Given the description of an element on the screen output the (x, y) to click on. 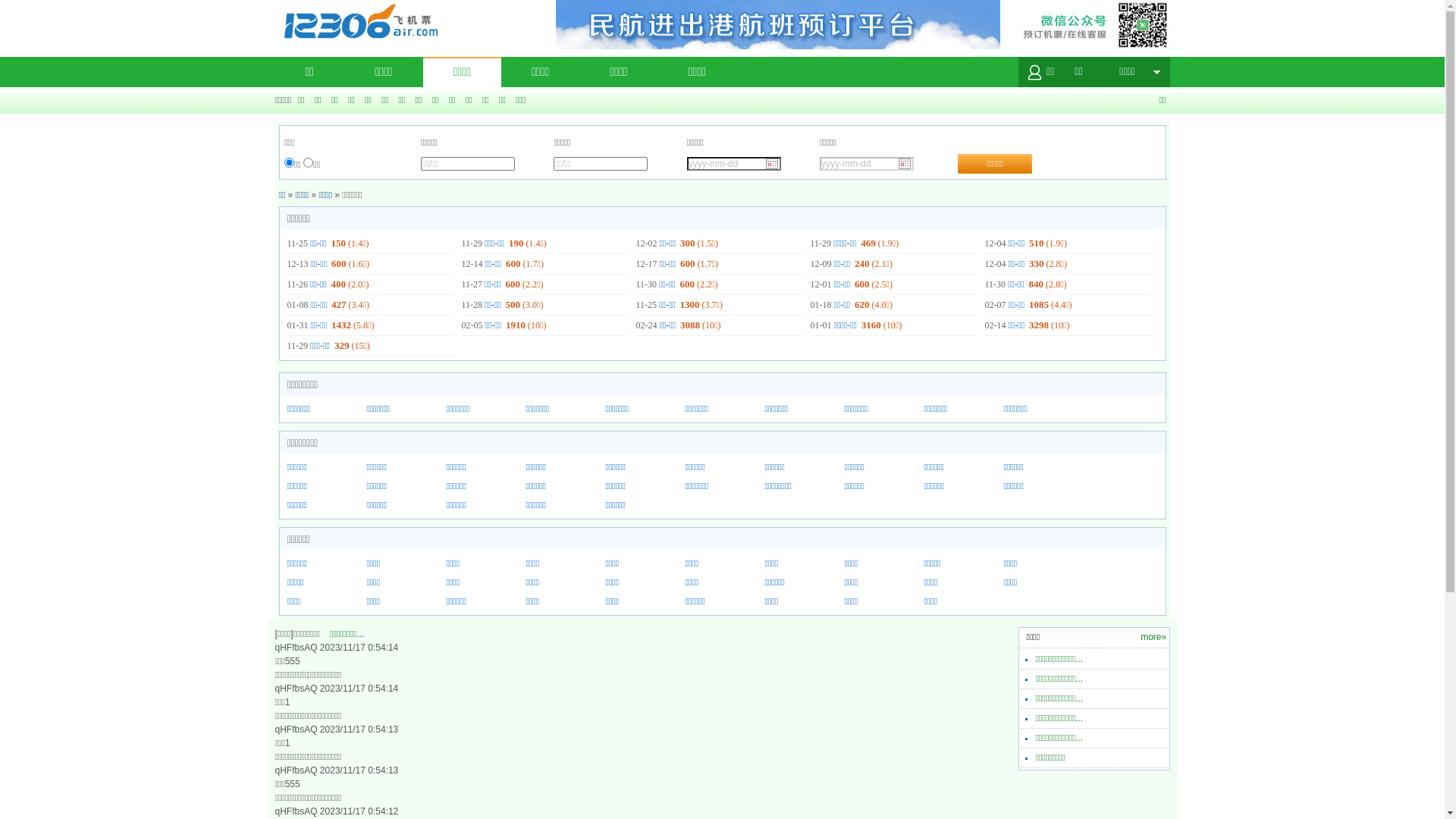
yyyy-mm-dd Element type: text (734, 163)
yyyy-mm-dd Element type: text (866, 163)
1 Element type: text (289, 162)
2 Element type: text (308, 162)
